Given the description of an element on the screen output the (x, y) to click on. 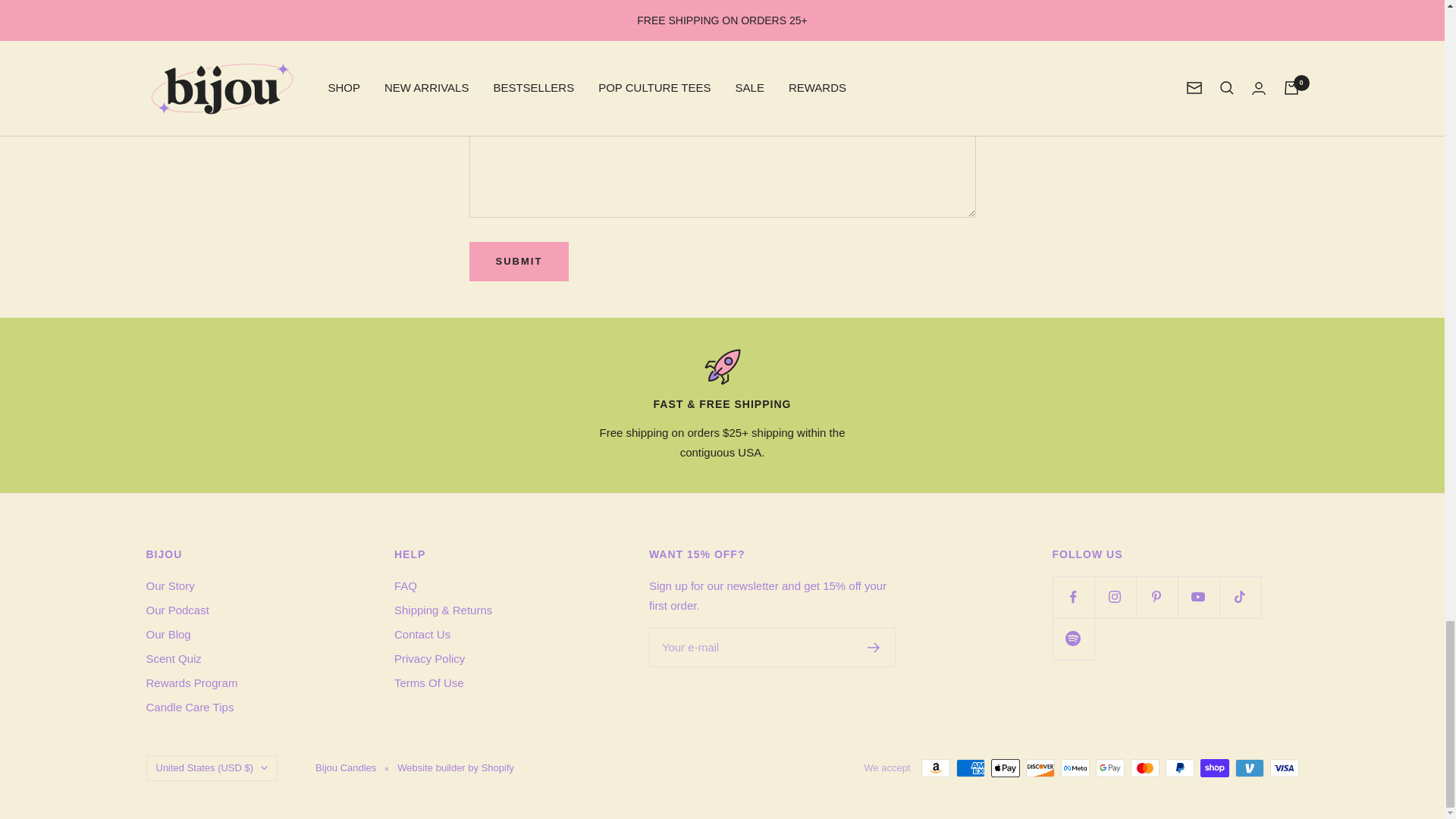
Register (873, 647)
